Given the description of an element on the screen output the (x, y) to click on. 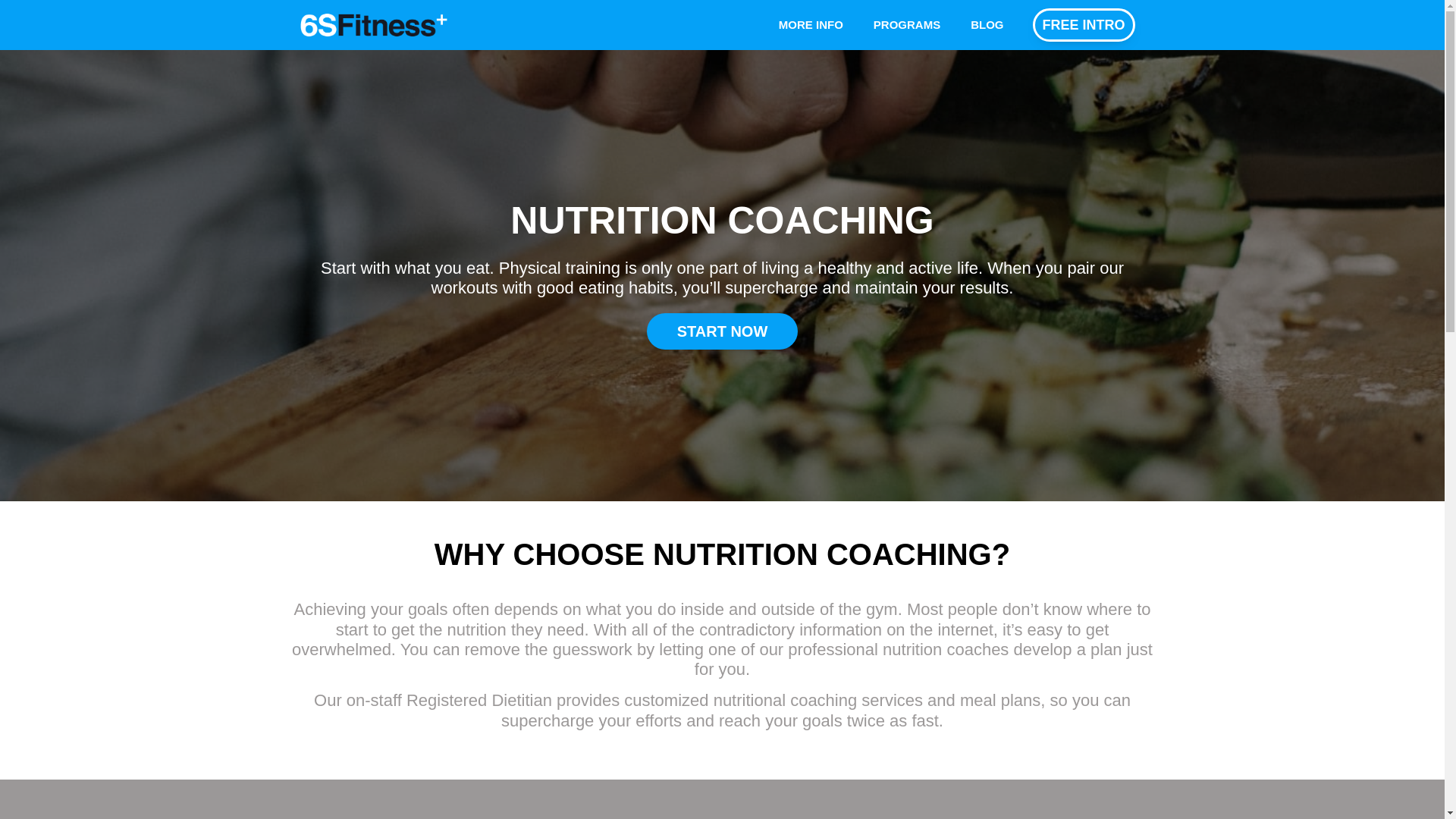
BLOG Element type: text (986, 24)
START NOW Element type: text (722, 331)
FREE INTRO Element type: text (1083, 24)
MORE INFO Element type: text (810, 24)
PROGRAMS Element type: text (906, 24)
